Given the description of an element on the screen output the (x, y) to click on. 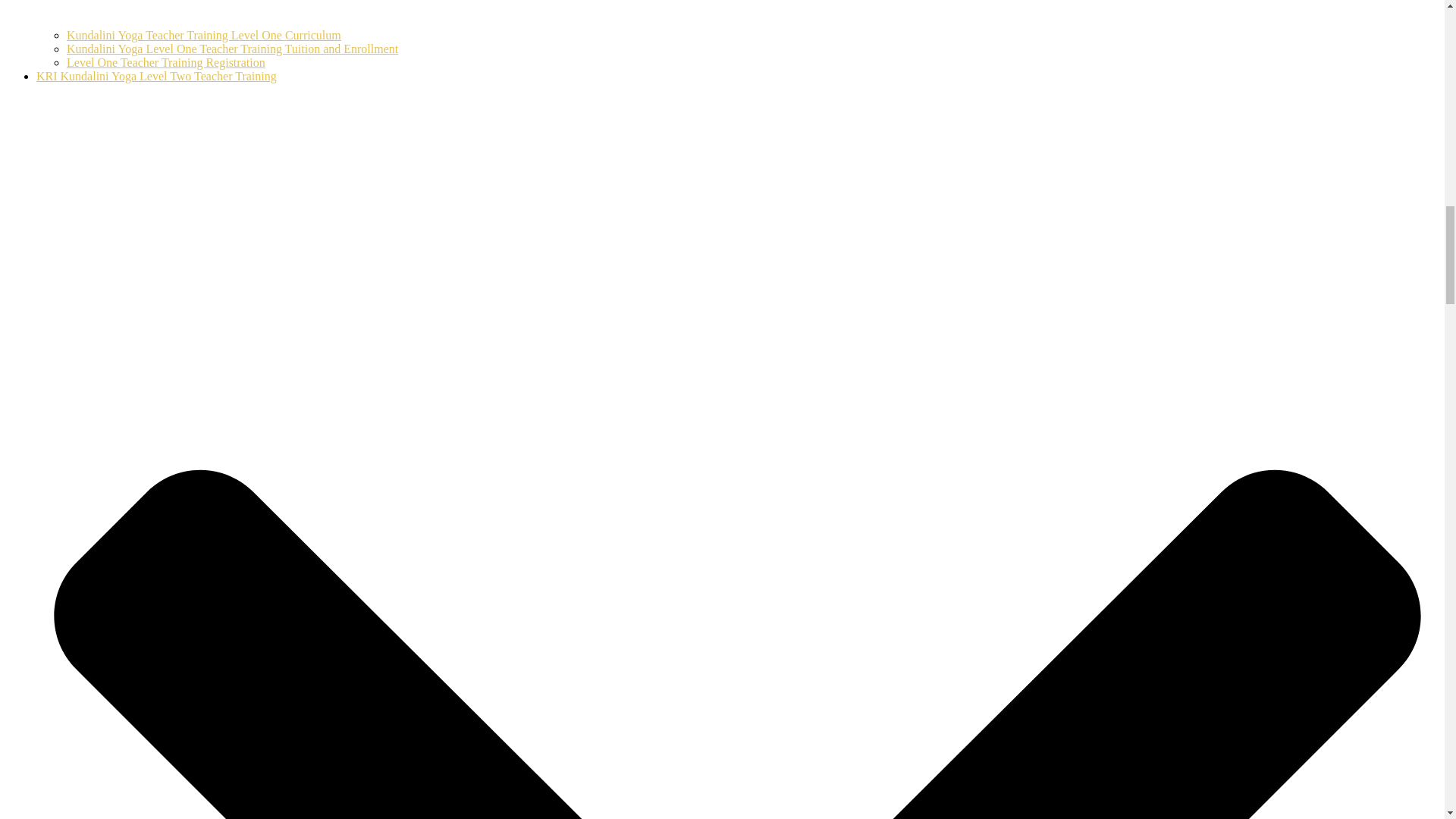
Kundalini Yoga Teacher Training Level One Curriculum (203, 34)
Level One Teacher Training Registration (165, 62)
Kundalini Yoga Teacher Training Level One Curriculum (203, 34)
Level One Teacher Training Registration (165, 62)
